Given the description of an element on the screen output the (x, y) to click on. 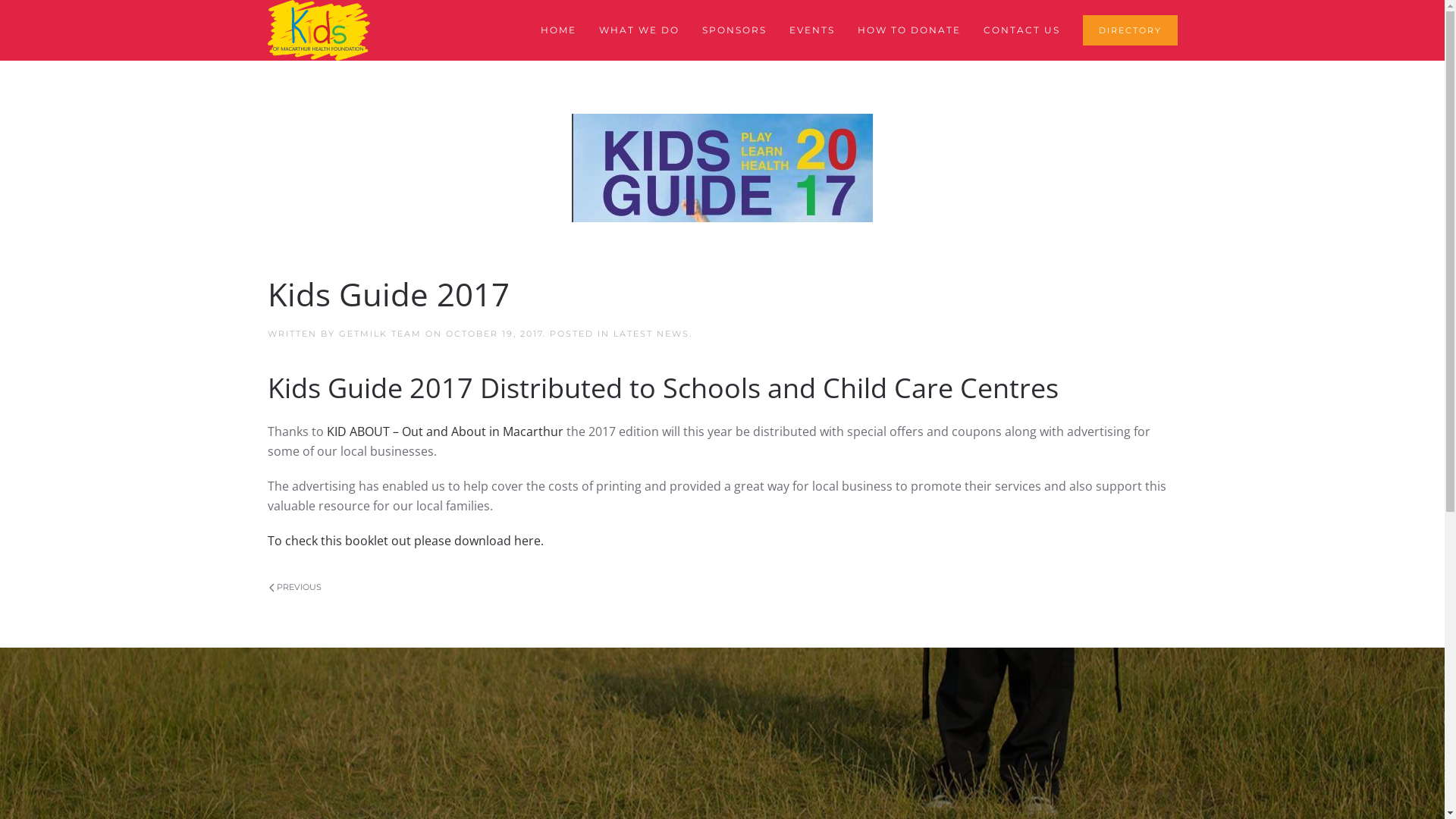
WHAT WE DO Element type: text (638, 30)
HOW TO DONATE Element type: text (909, 30)
CONTACT US Element type: text (1021, 30)
SPONSORS Element type: text (733, 30)
HOME Element type: text (558, 30)
EVENTS Element type: text (812, 30)
To check this booklet out please download here. Element type: text (404, 540)
GETMILK TEAM Element type: text (379, 333)
PREVIOUS Element type: text (294, 587)
LATEST NEWS Element type: text (650, 333)
DIRECTORY Element type: text (1129, 30)
